Given the description of an element on the screen output the (x, y) to click on. 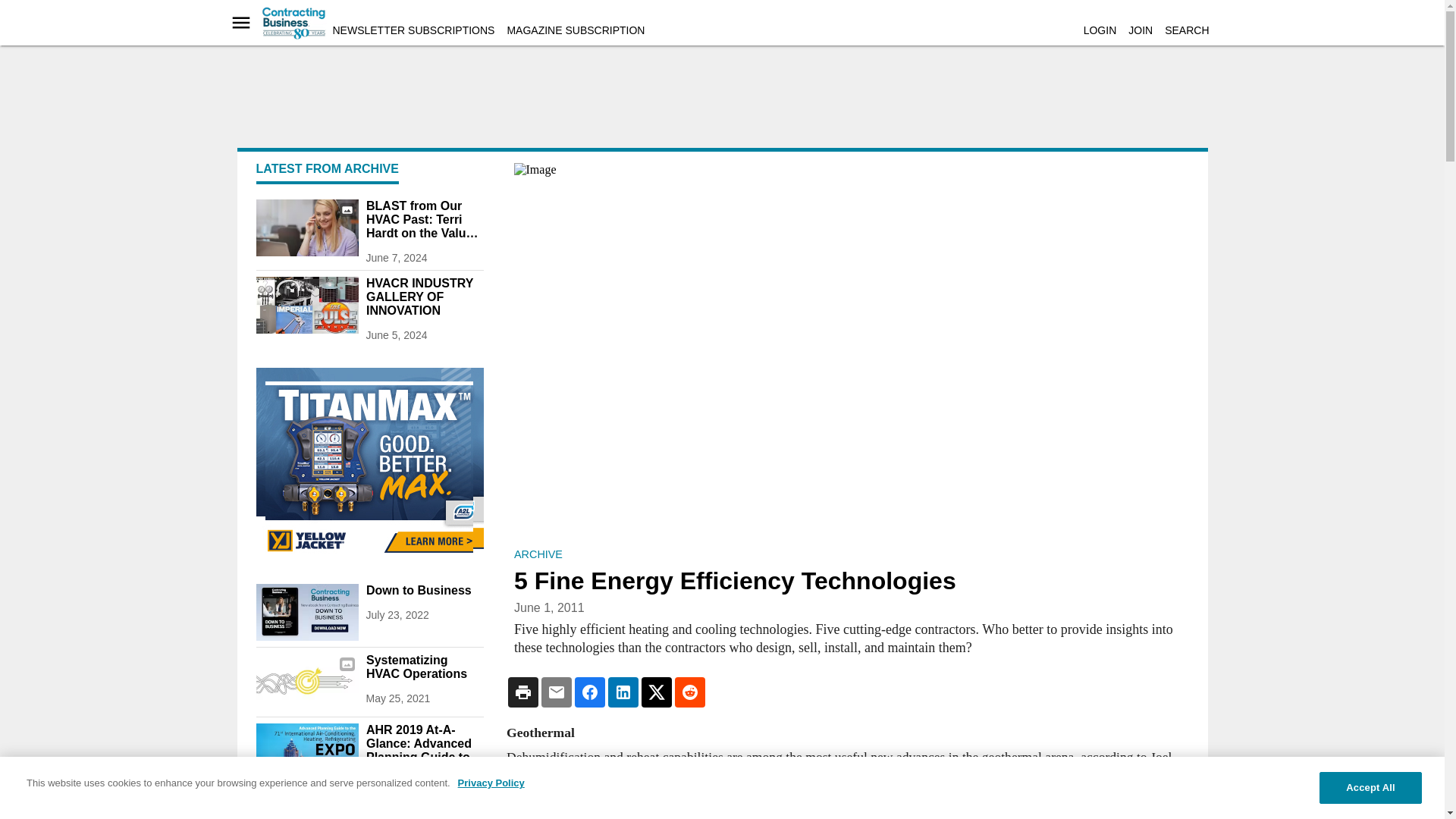
3rd party ad content (721, 101)
LOGIN (1099, 30)
MAGAZINE SUBSCRIPTION (575, 30)
print (307, 809)
JOIN (1140, 30)
3rd party ad content (369, 462)
C Be Book Web Ads Ps Ds Vert 1200x628 (307, 611)
SEARCH (1186, 30)
HVACR INDUSTRY GALLERY OF INNOVATION (424, 296)
print (307, 751)
NEWSLETTER SUBSCRIPTIONS (413, 30)
Systematizing (307, 681)
